Given the description of an element on the screen output the (x, y) to click on. 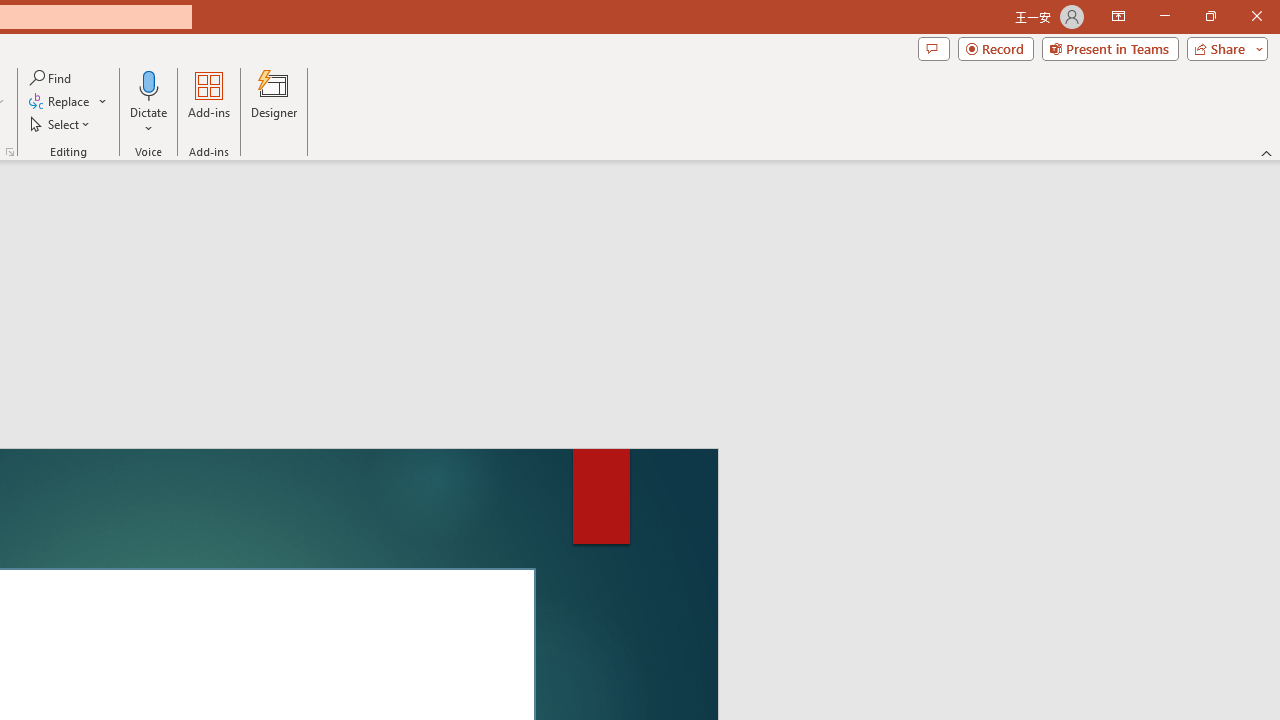
Designer (274, 102)
Format Object... (9, 151)
Find... (51, 78)
